Given the description of an element on the screen output the (x, y) to click on. 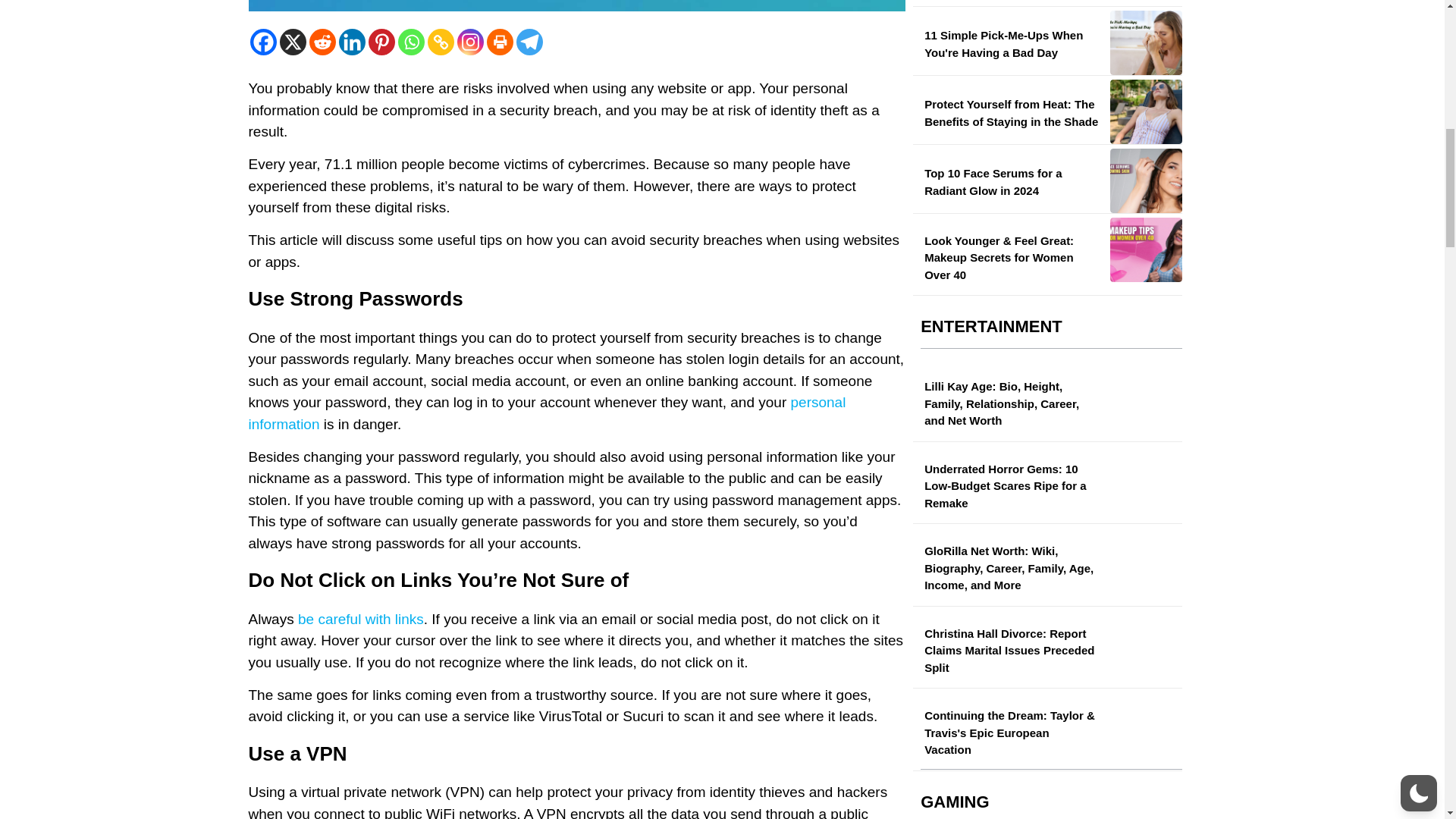
Facebook (263, 41)
Whatsapp (410, 41)
Copy Link (441, 41)
Telegram (528, 41)
Linkedin (351, 41)
X (292, 41)
Instagram (470, 41)
Print (499, 41)
Pinterest (381, 41)
Reddit (322, 41)
